Given the description of an element on the screen output the (x, y) to click on. 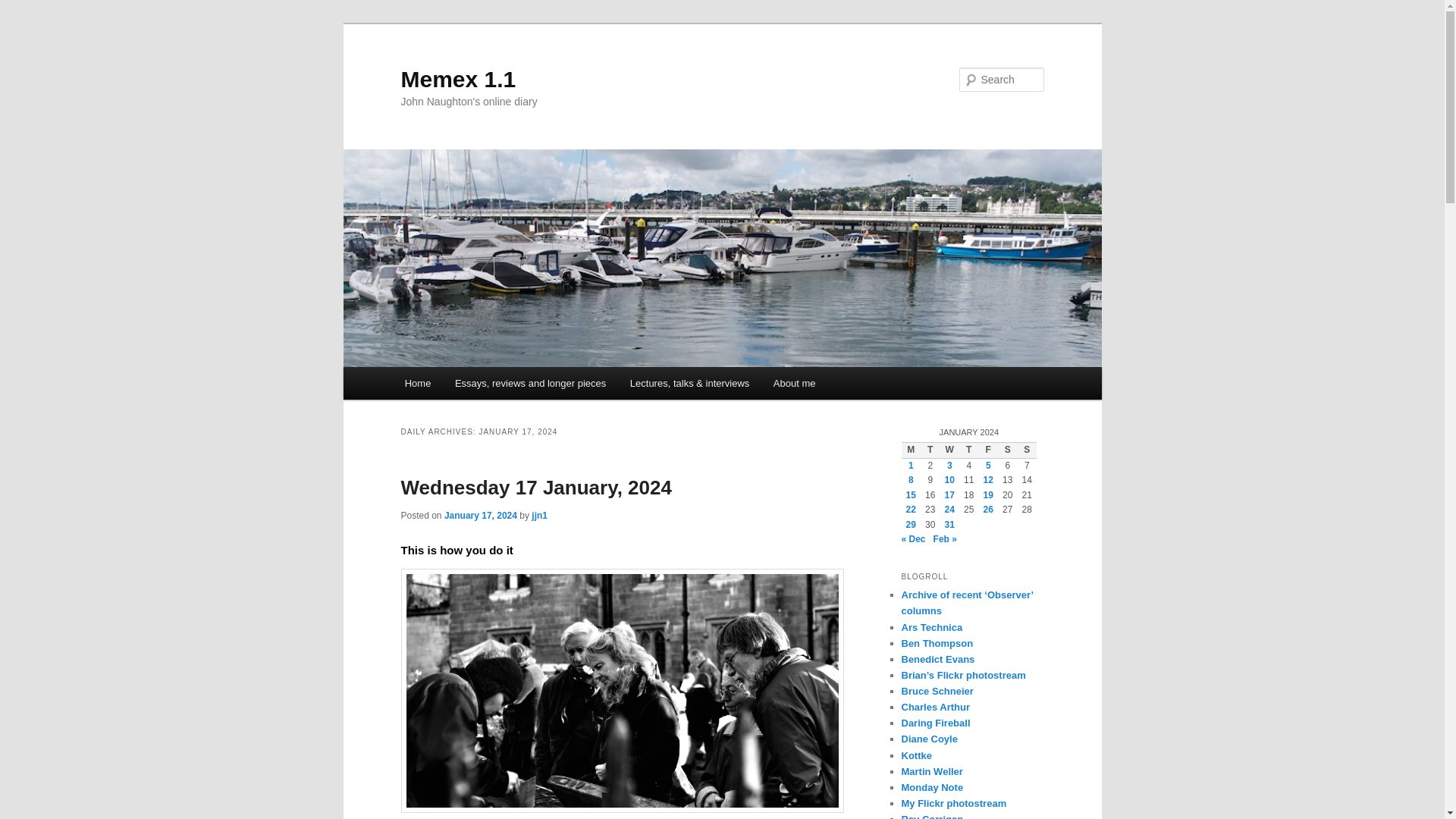
Ars Technica (931, 627)
Friday (987, 450)
Saturday (1007, 450)
Benedict Evans (937, 659)
An archive of recent Observer columns (966, 602)
29 (910, 524)
22 (910, 509)
Memex 1.1 (457, 78)
24 (949, 509)
Wednesday (949, 450)
